Given the description of an element on the screen output the (x, y) to click on. 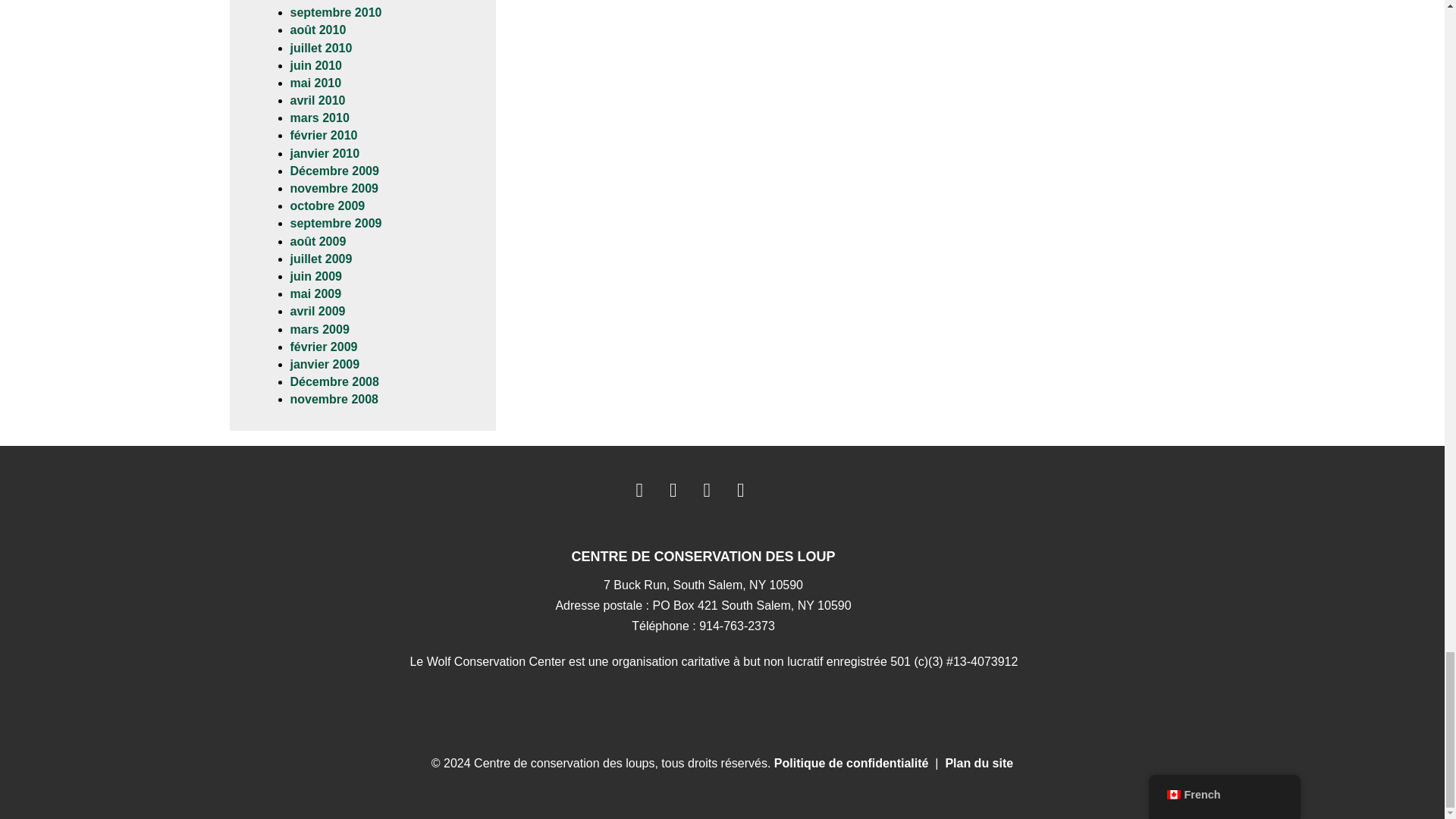
Youtube (707, 490)
Facebook (638, 490)
Twitter (673, 490)
